Given the description of an element on the screen output the (x, y) to click on. 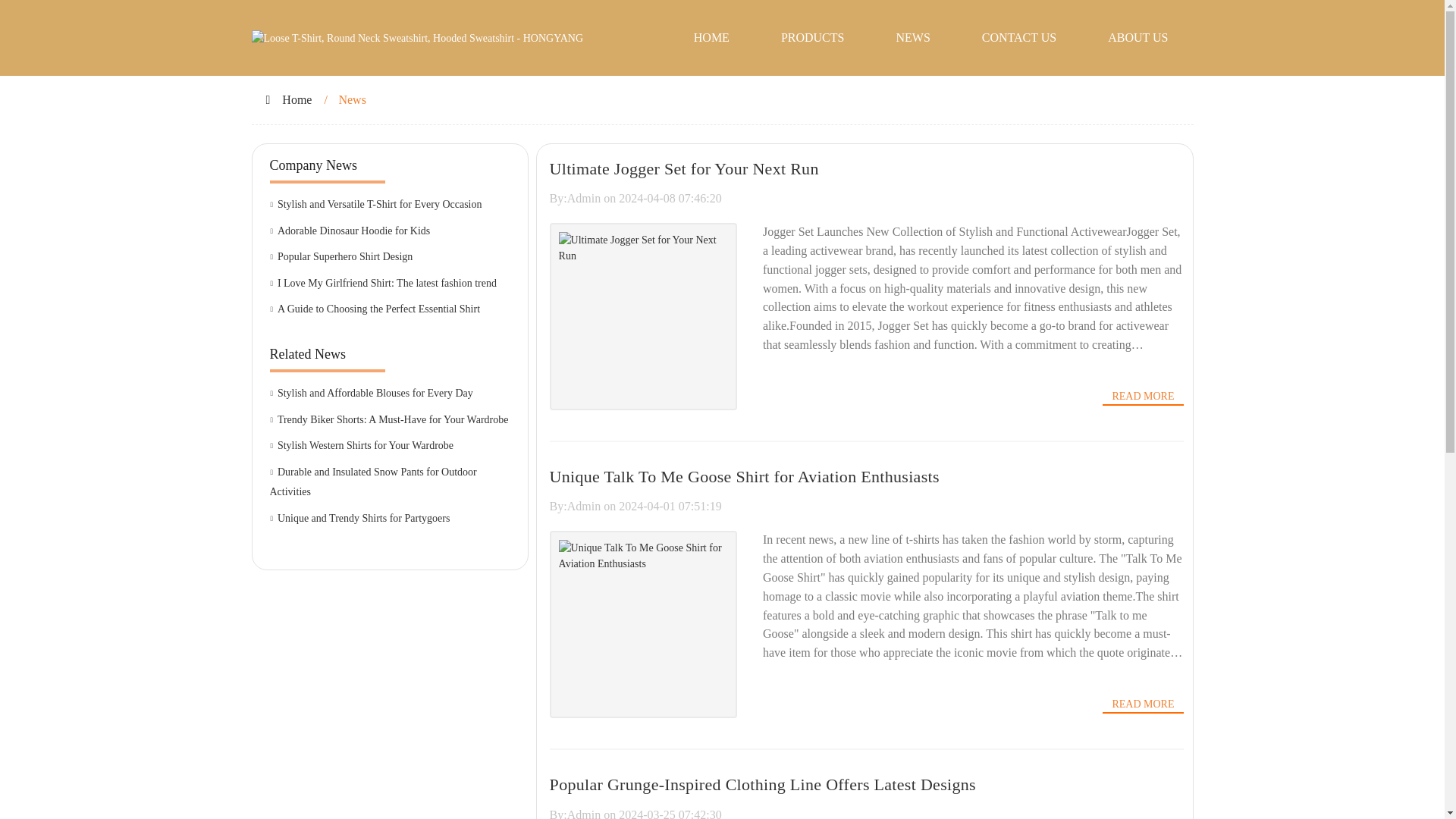
Popular Superhero Shirt Design (390, 257)
Stylish and Affordable Blouses for Every Day (390, 394)
Popular Grunge-Inspired Clothing Line Offers Latest Designs (762, 783)
Durable and Insulated Snow Pants for Outdoor Activities (390, 482)
CONTACT US (1018, 38)
Adorable Dinosaur Hoodie for Kids (390, 231)
Stylish Western Shirts for Your Wardrobe (390, 445)
Ultimate Jogger Set for Your Next Run (684, 168)
A Guide to Choosing the Perfect Essential Shirt (390, 309)
Unique Talk To Me Goose Shirt for Aviation Enthusiasts (744, 476)
